Given the description of an element on the screen output the (x, y) to click on. 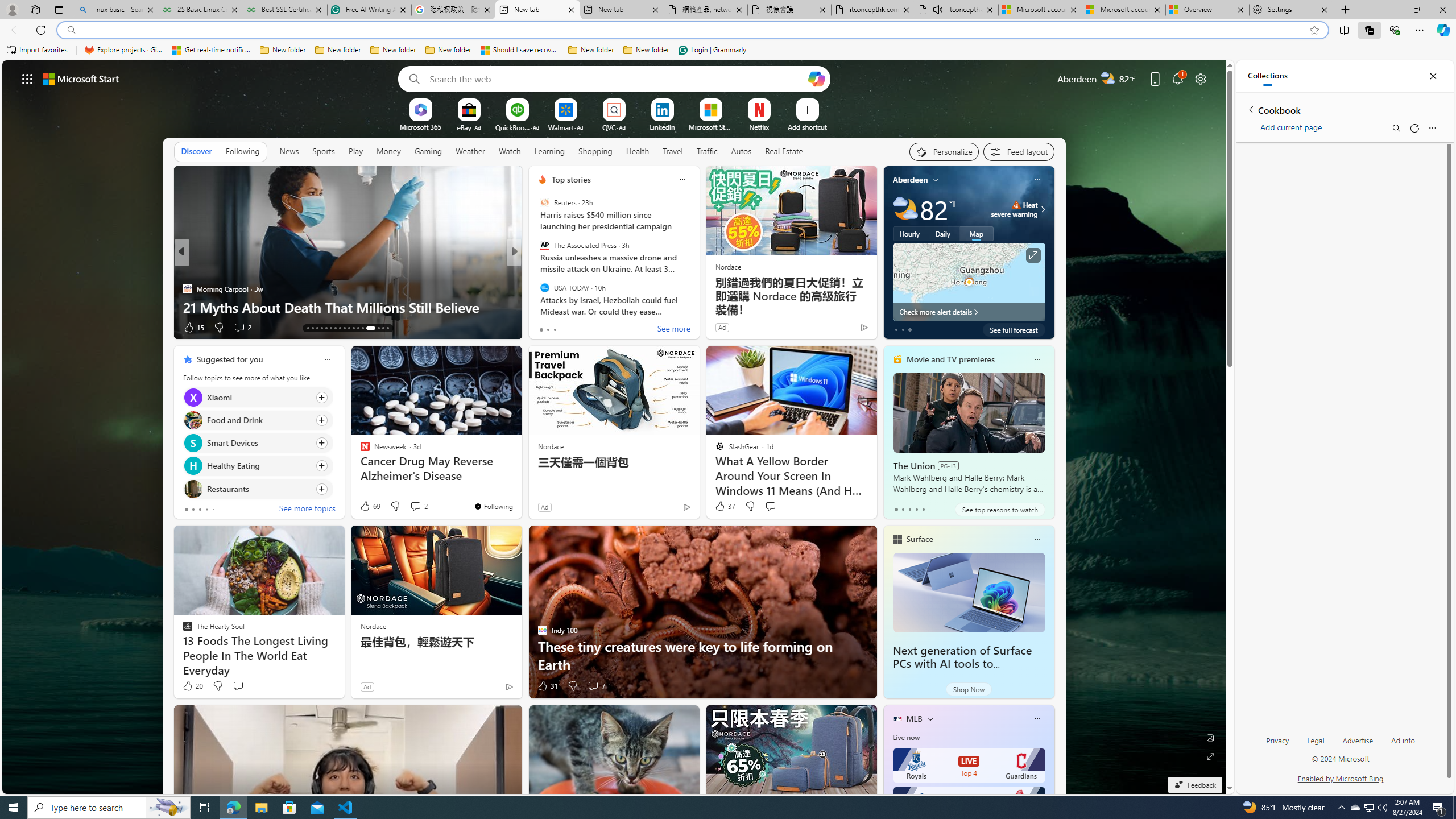
Travel (672, 151)
LinkedIn (662, 126)
Health (637, 151)
More options menu (1432, 127)
Check more alert details (968, 311)
37 Like (724, 505)
Personalize your feed" (943, 151)
Click to see more information (1033, 255)
Travel (672, 151)
You're following Newsweek (493, 505)
Money (388, 151)
